Given the description of an element on the screen output the (x, y) to click on. 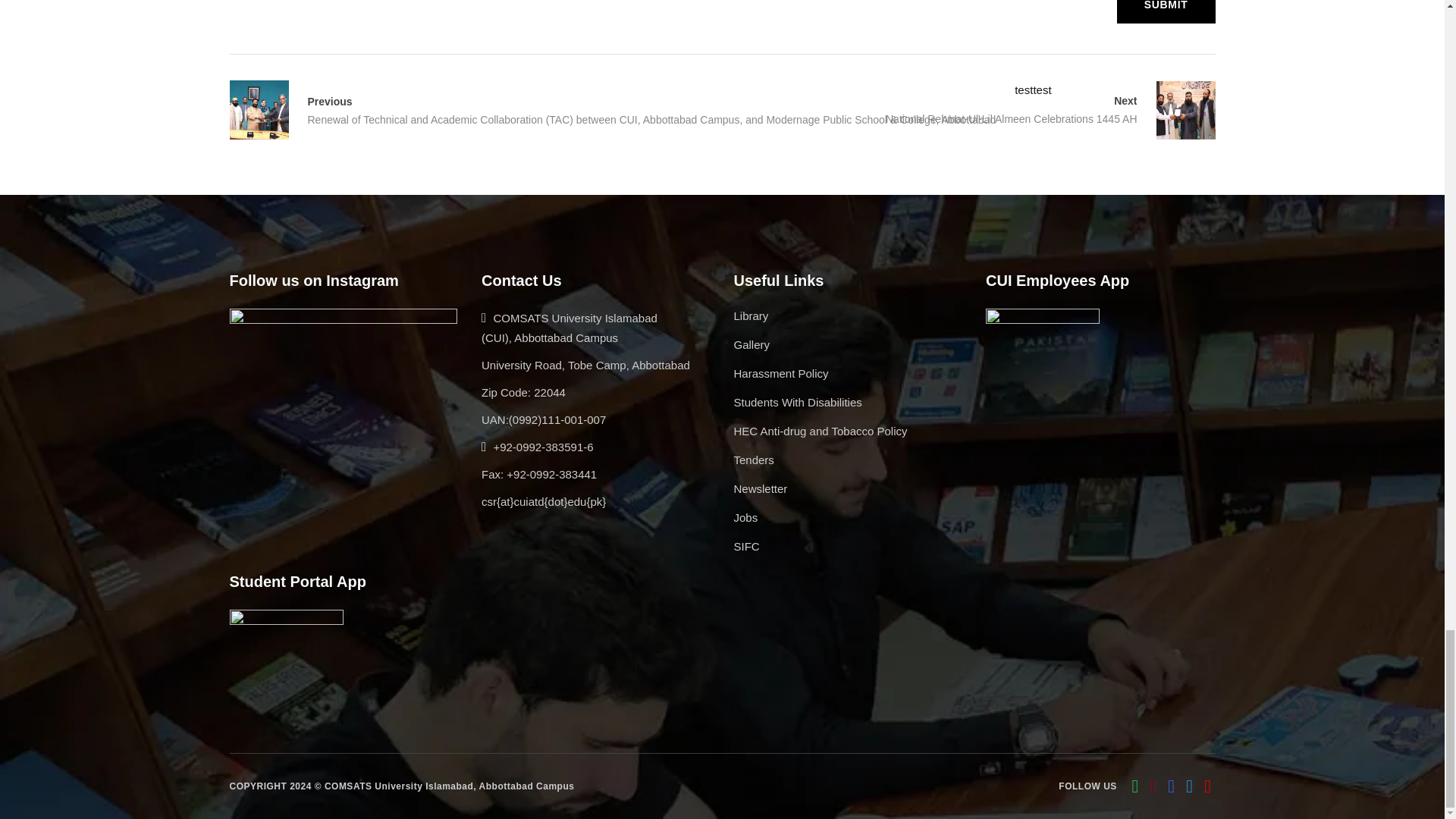
Submit (1165, 11)
